Given the description of an element on the screen output the (x, y) to click on. 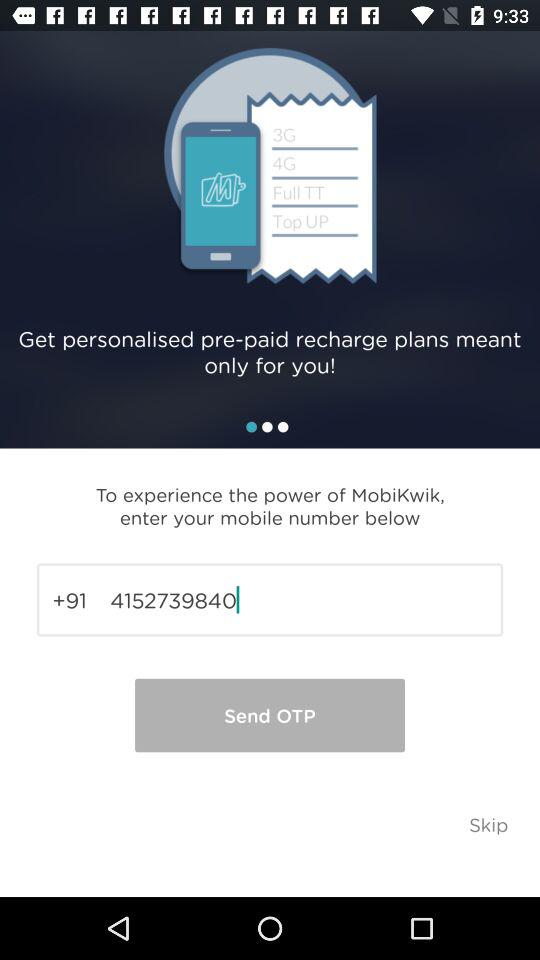
flip to skip (488, 823)
